Given the description of an element on the screen output the (x, y) to click on. 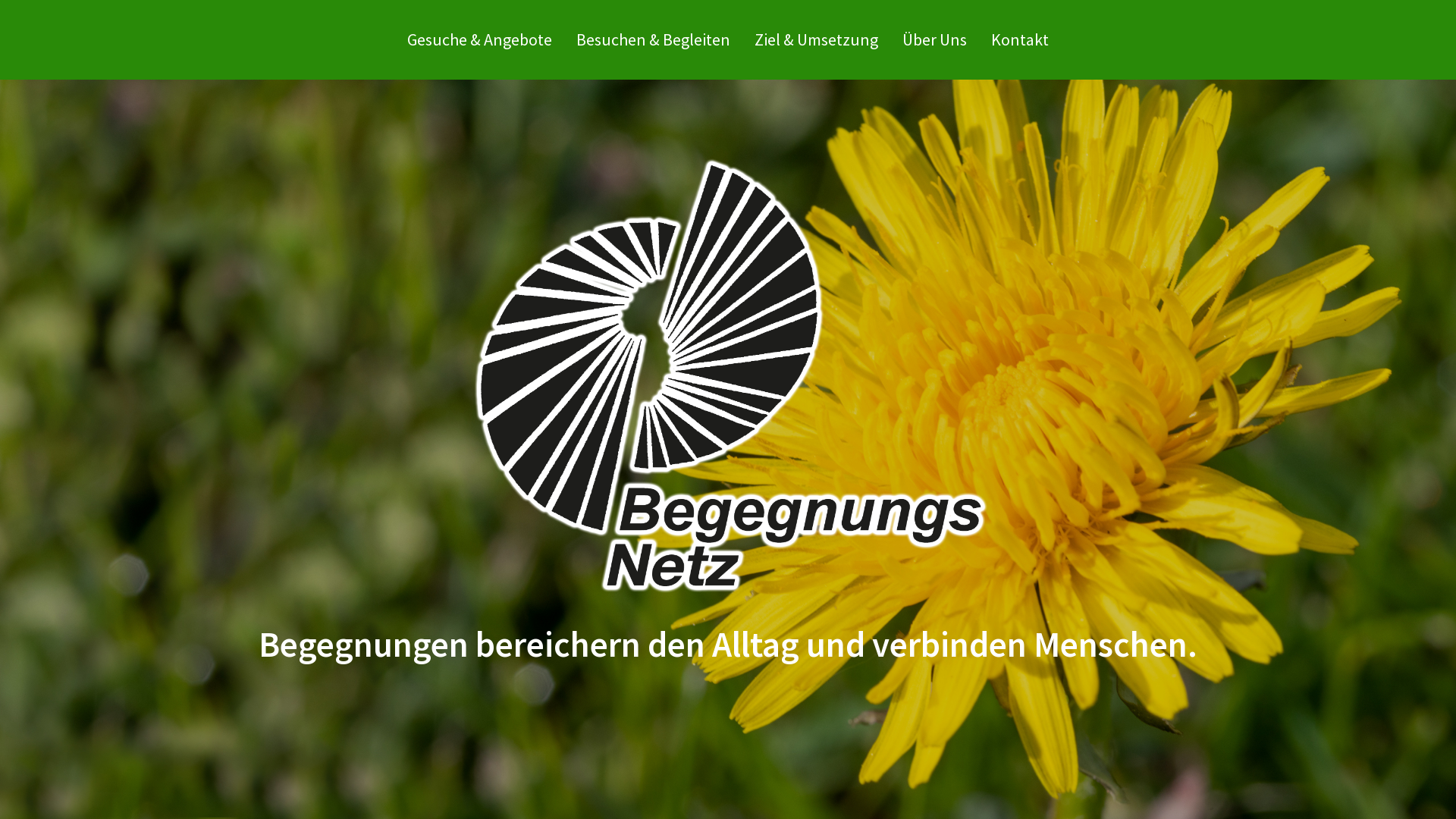
Ziel & Umsetzung Element type: text (816, 39)
Kontakt Element type: text (1019, 39)
Gesuche & Angebote Element type: text (479, 39)
  Element type: text (1060, 14)
Besuchen & Begleiten Element type: text (653, 39)
